Given the description of an element on the screen output the (x, y) to click on. 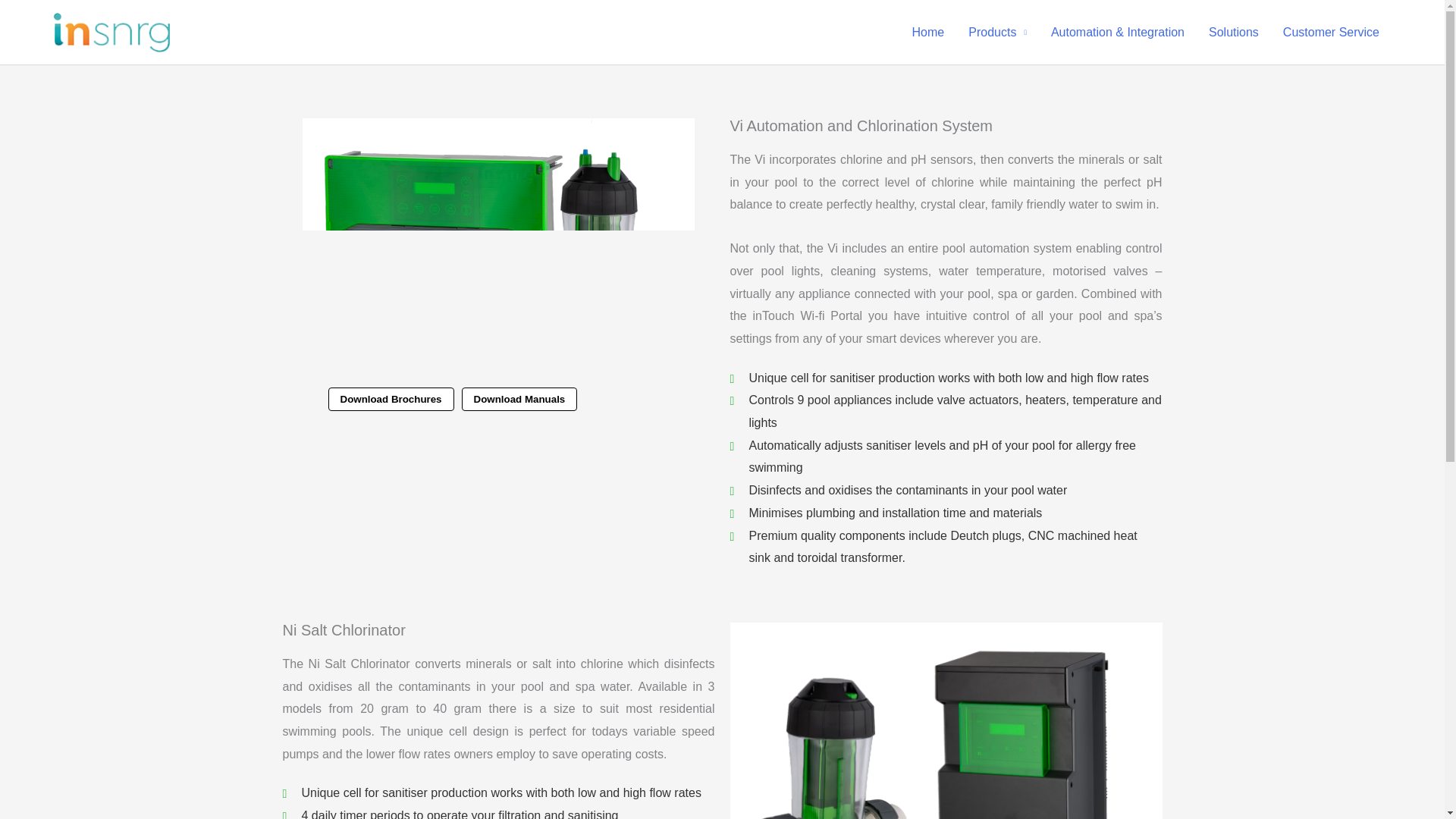
Home (927, 31)
Products (997, 31)
Solutions (1233, 31)
Download Manuals (519, 399)
Download Brochures (389, 399)
Customer Service (1331, 31)
